Given the description of an element on the screen output the (x, y) to click on. 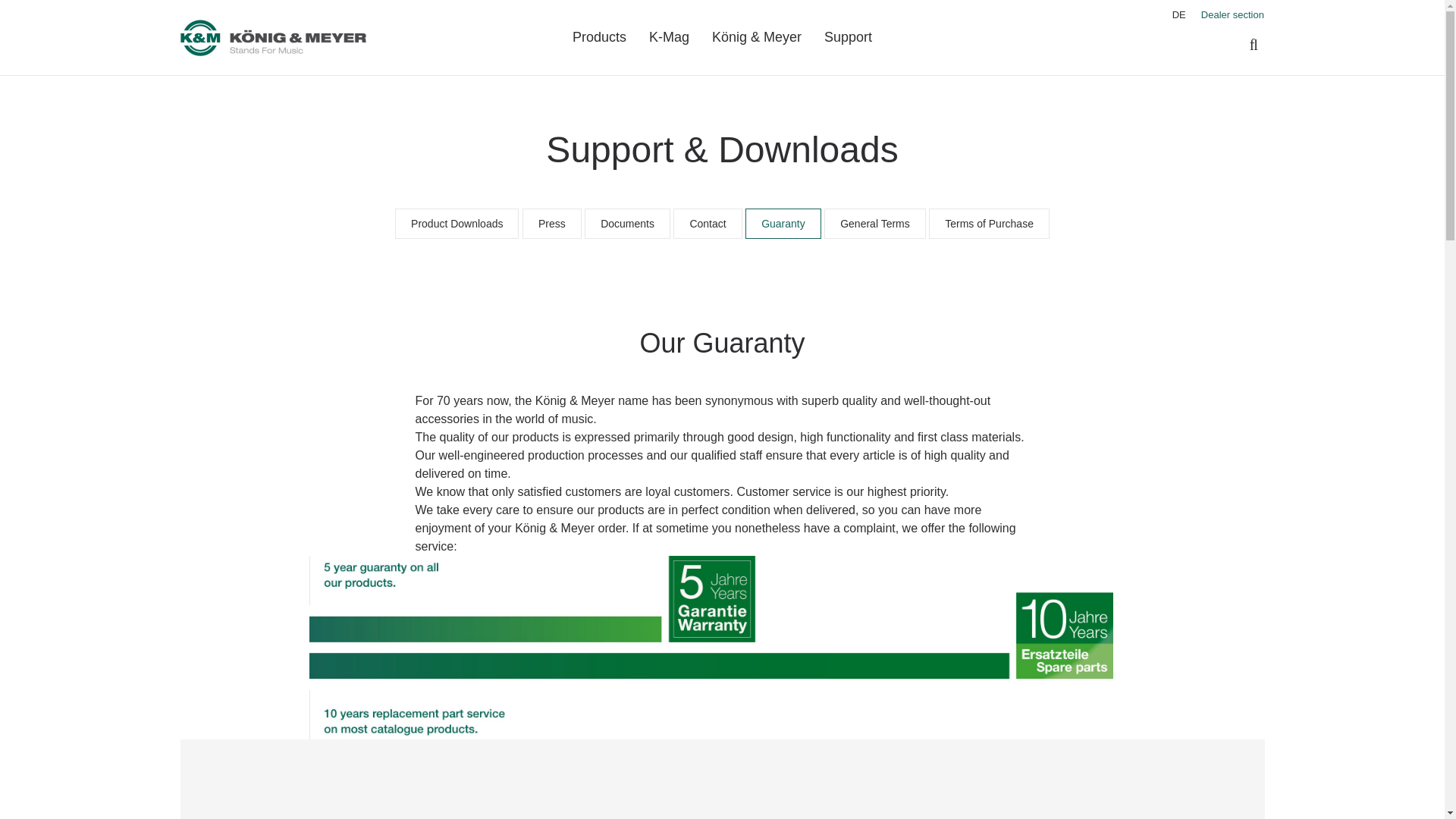
Products (599, 38)
Products (599, 38)
